Given the description of an element on the screen output the (x, y) to click on. 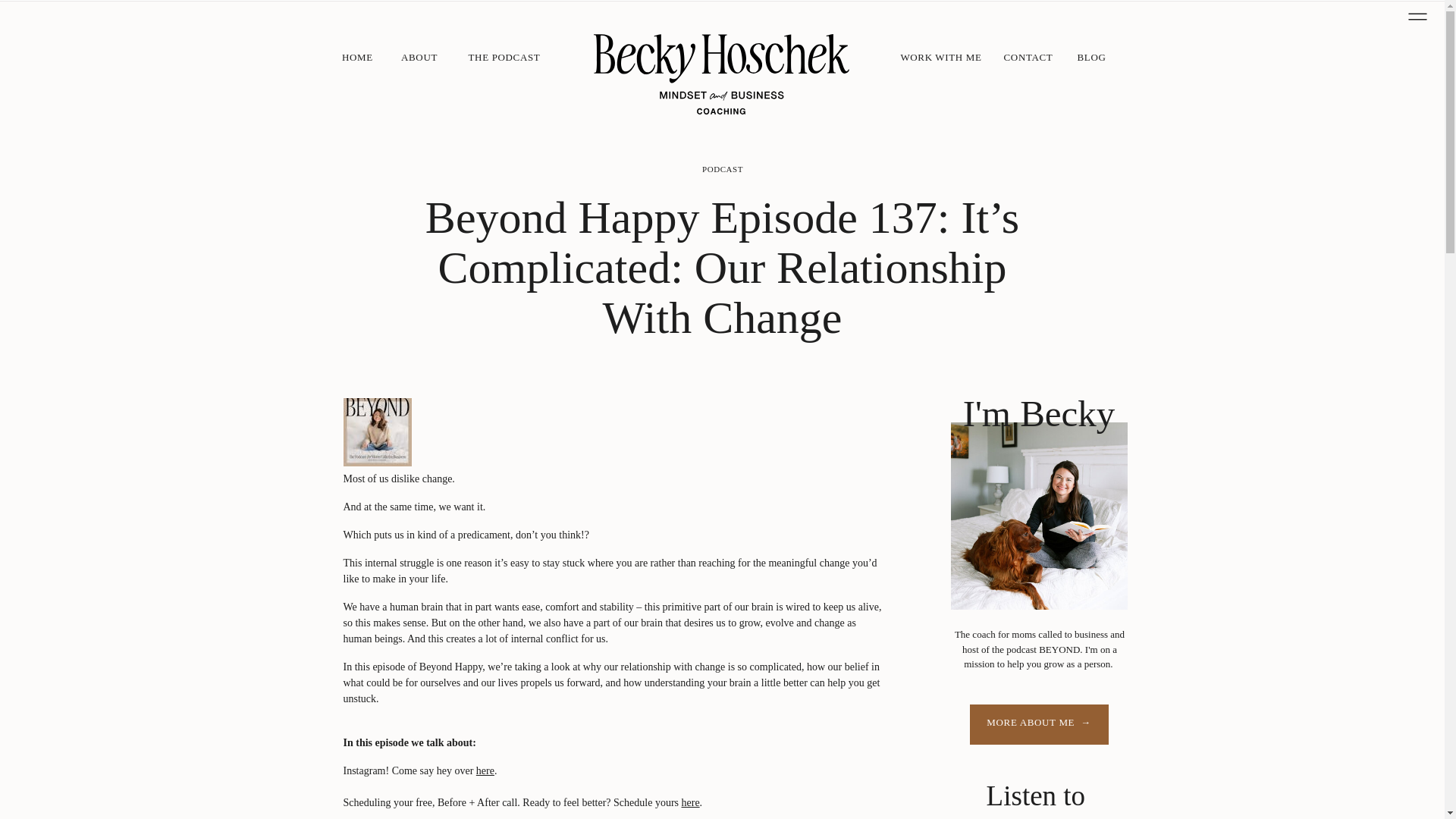
here (485, 770)
CONTACT (1028, 57)
here (690, 802)
WORK WITH ME (941, 57)
HOME (356, 57)
ABOUT (419, 57)
PODCAST (721, 168)
THE PODCAST (505, 57)
BLOG (1091, 57)
